Given the description of an element on the screen output the (x, y) to click on. 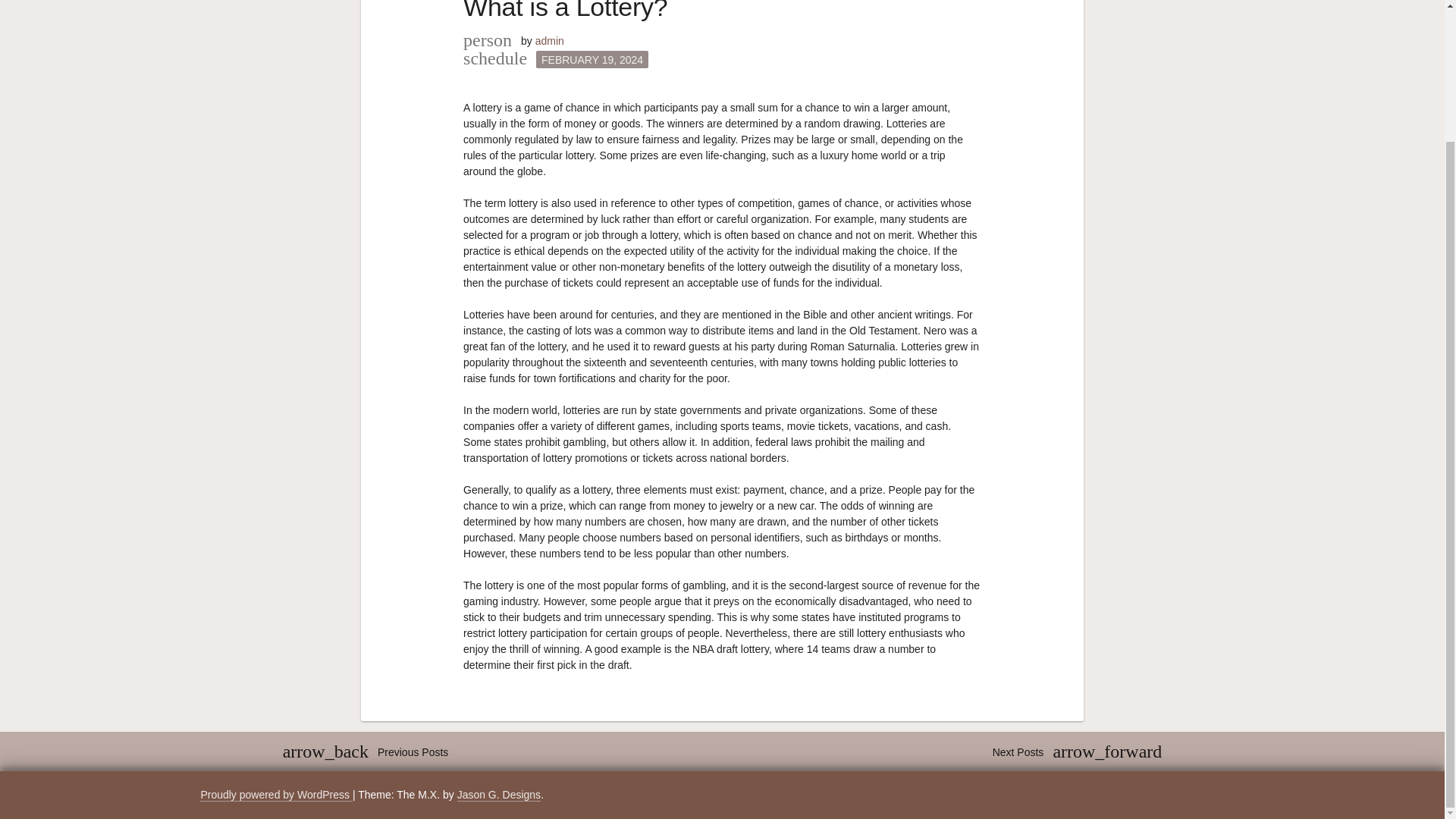
FEBRUARY 19, 2024 (591, 58)
admin (549, 40)
